Given the description of an element on the screen output the (x, y) to click on. 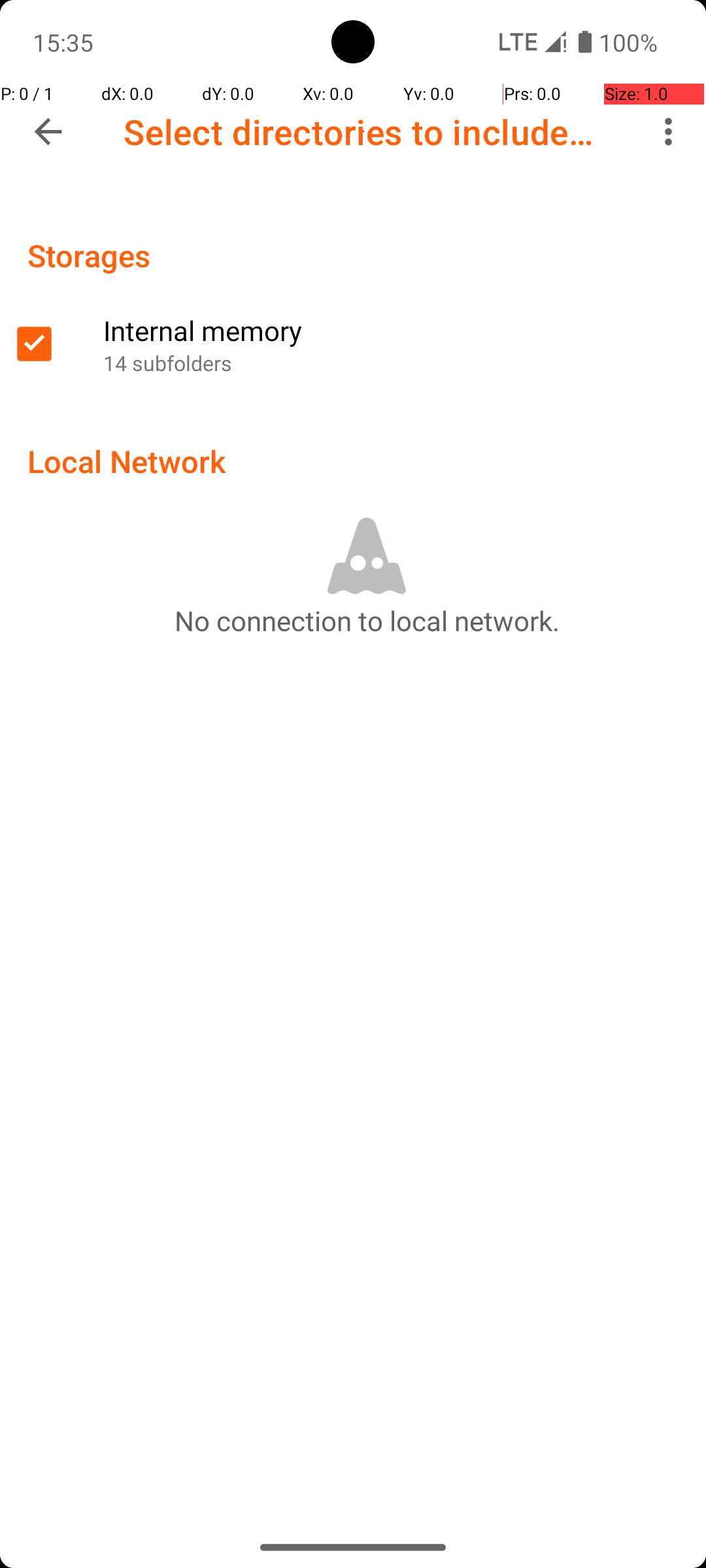
Select directories to include in the media library Element type: android.widget.TextView (363, 131)
Storages Element type: android.widget.TextView (88, 254)
Local Network Element type: android.widget.TextView (126, 460)
No connection to local network. Element type: android.widget.TextView (366, 619)
Folder: Internal memory Element type: android.view.ViewGroup (353, 344)
14 subfolders Element type: android.widget.TextView (397, 362)
